Given the description of an element on the screen output the (x, y) to click on. 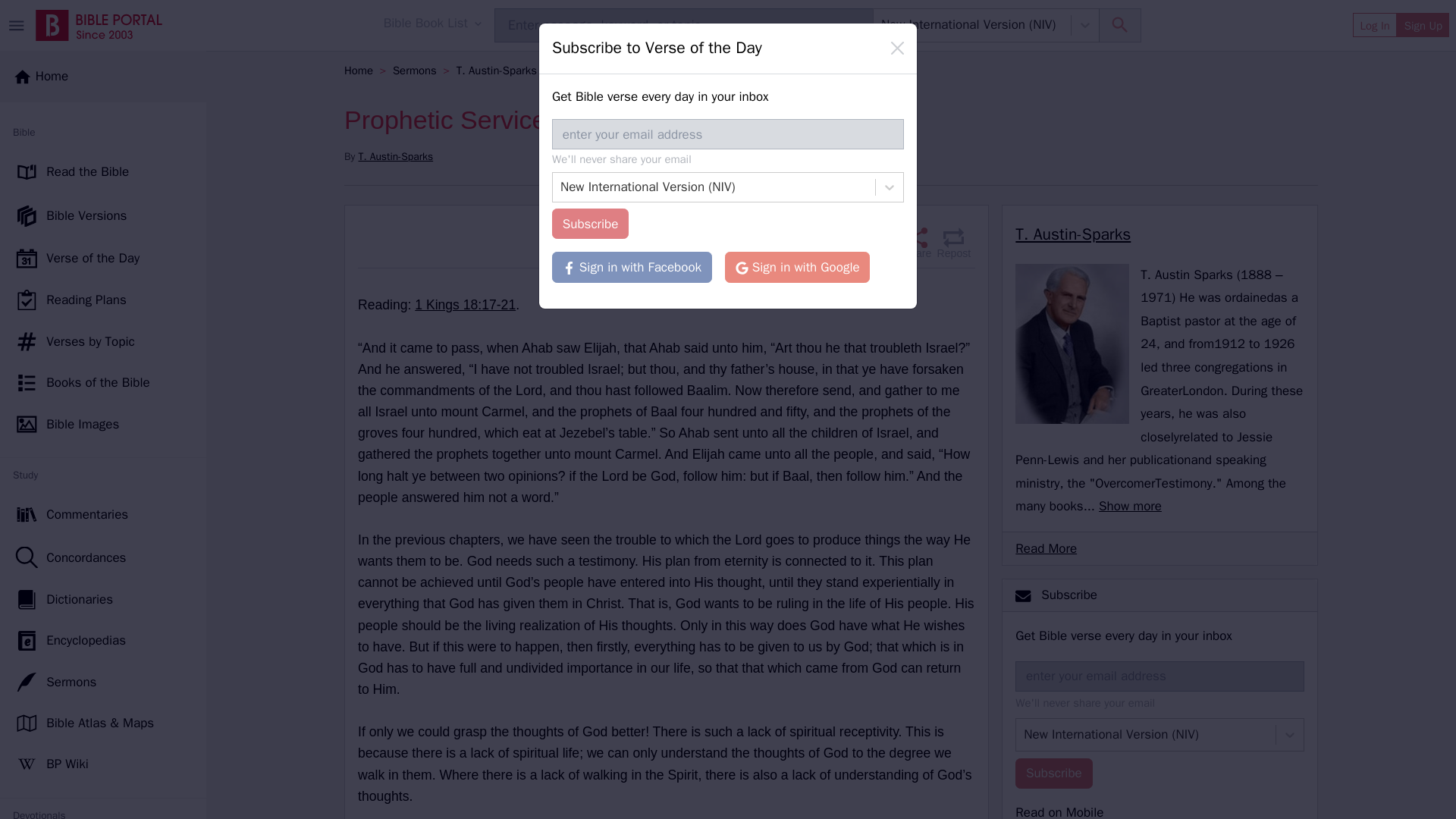
Read the Bible (103, 171)
Sign Up (1422, 24)
Books of the Bible (103, 382)
Dictionaries (103, 599)
Verses by Topic (103, 341)
Amen (879, 242)
Repost (953, 242)
BP Wiki (103, 763)
Reading Plans (103, 300)
Home (40, 76)
Concordances (103, 557)
Commentaries (103, 514)
Like (845, 242)
Share (915, 242)
